Given the description of an element on the screen output the (x, y) to click on. 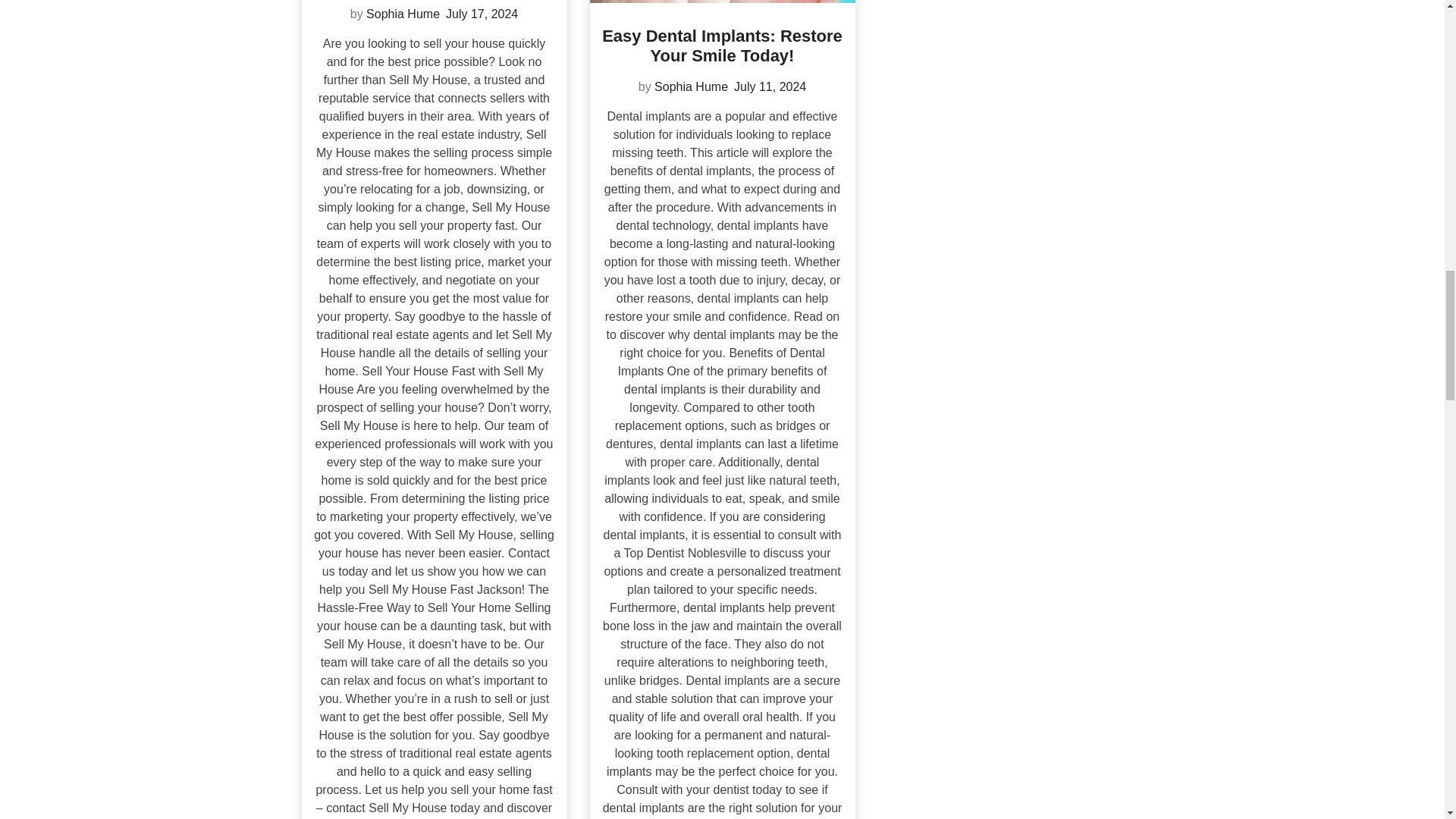
July 17, 2024 (481, 13)
July 11, 2024 (769, 86)
Sophia Hume (402, 13)
Easy Dental Implants: Restore Your Smile Today! (722, 45)
Sophia Hume (690, 86)
